Given the description of an element on the screen output the (x, y) to click on. 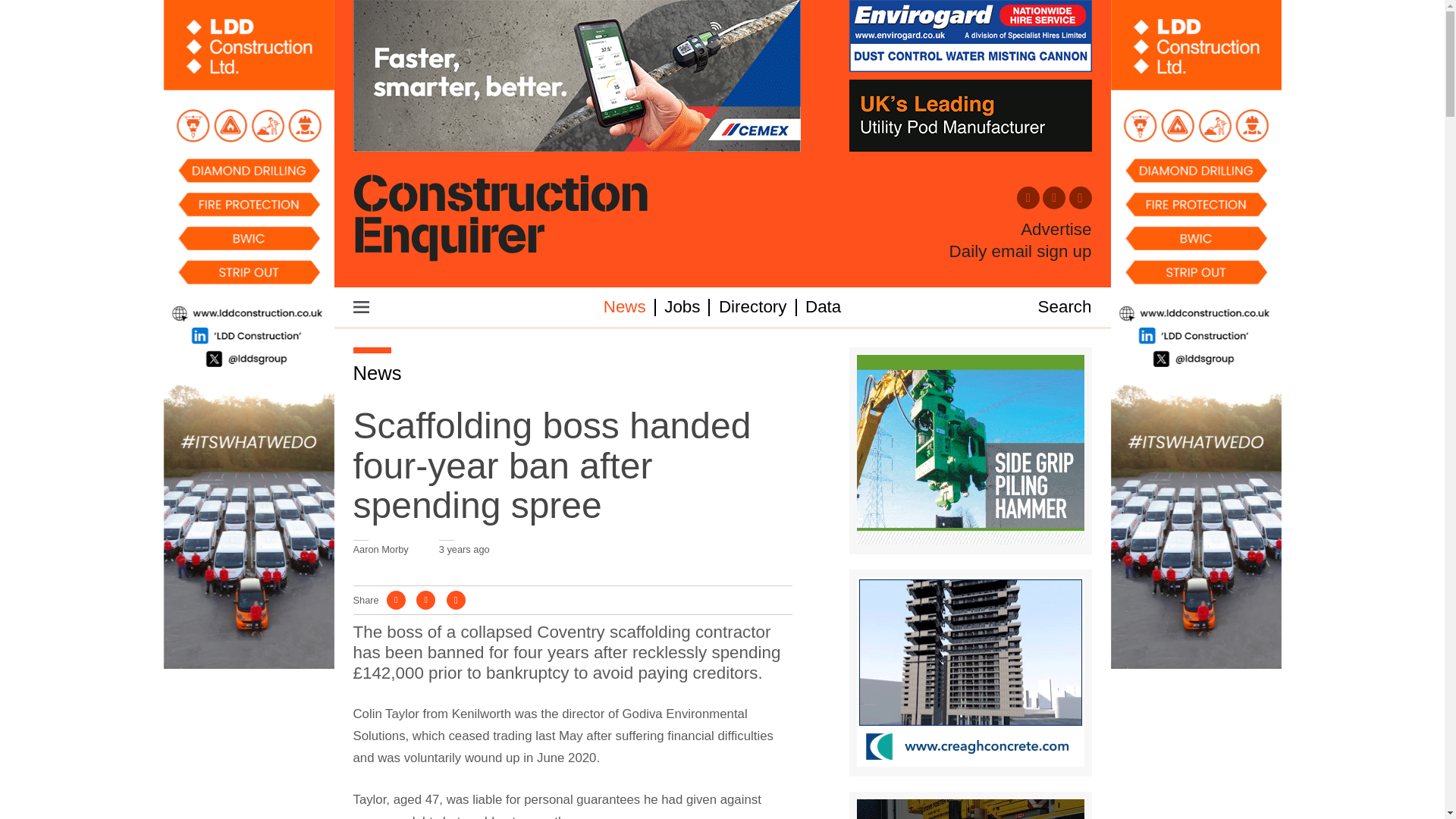
Construction Enquirer (500, 219)
Search (1065, 306)
Directory (753, 306)
Data (823, 306)
Menu (361, 306)
News (625, 306)
Jobs (681, 306)
Advertise (1055, 229)
Daily email sign up (1020, 251)
News (377, 373)
